Given the description of an element on the screen output the (x, y) to click on. 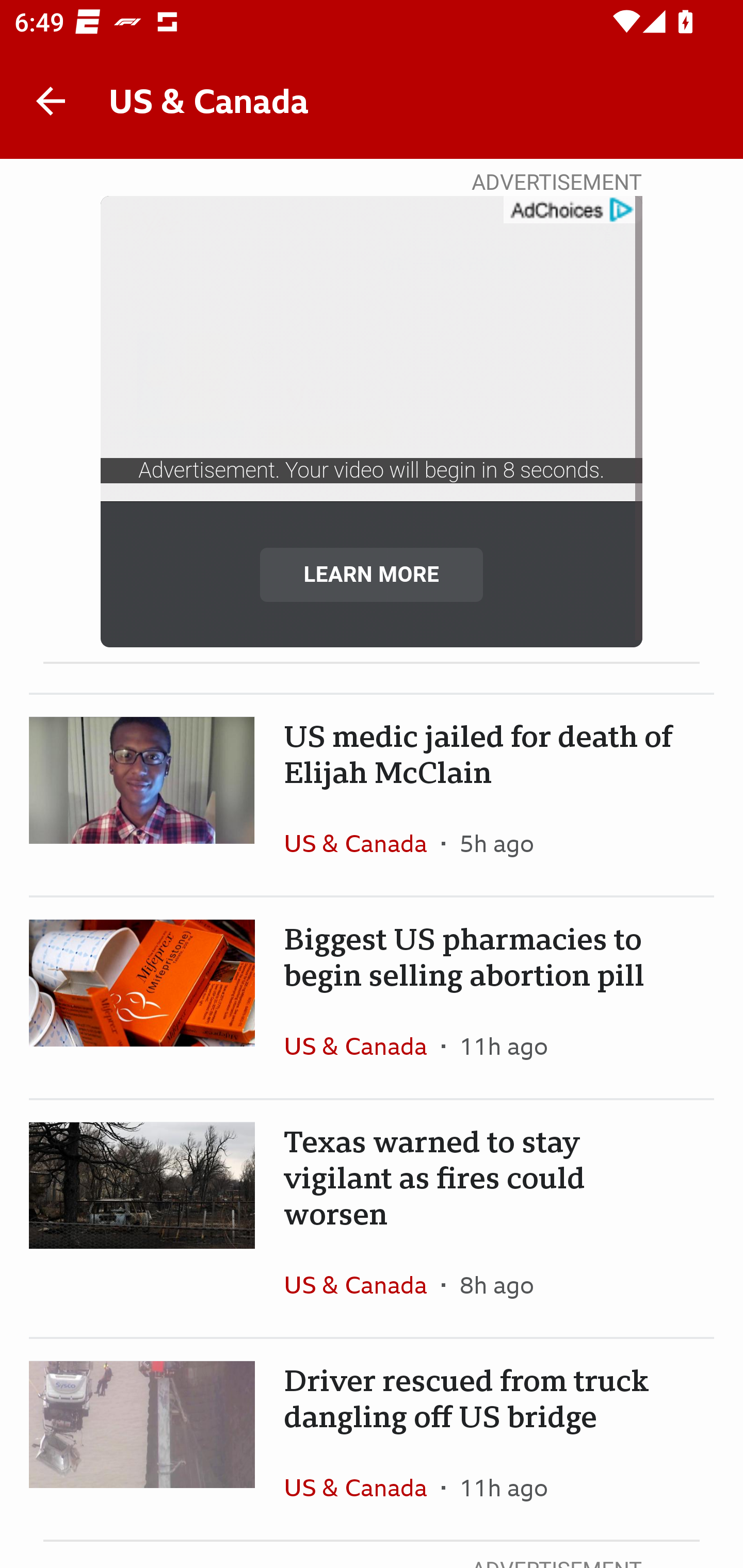
Back (50, 101)
get?name=admarker-full-tl (571, 210)
LEARN MORE (371, 573)
US & Canada In the section US & Canada (362, 843)
US & Canada In the section US & Canada (362, 1045)
US & Canada In the section US & Canada (362, 1284)
US & Canada In the section US & Canada (362, 1486)
